Given the description of an element on the screen output the (x, y) to click on. 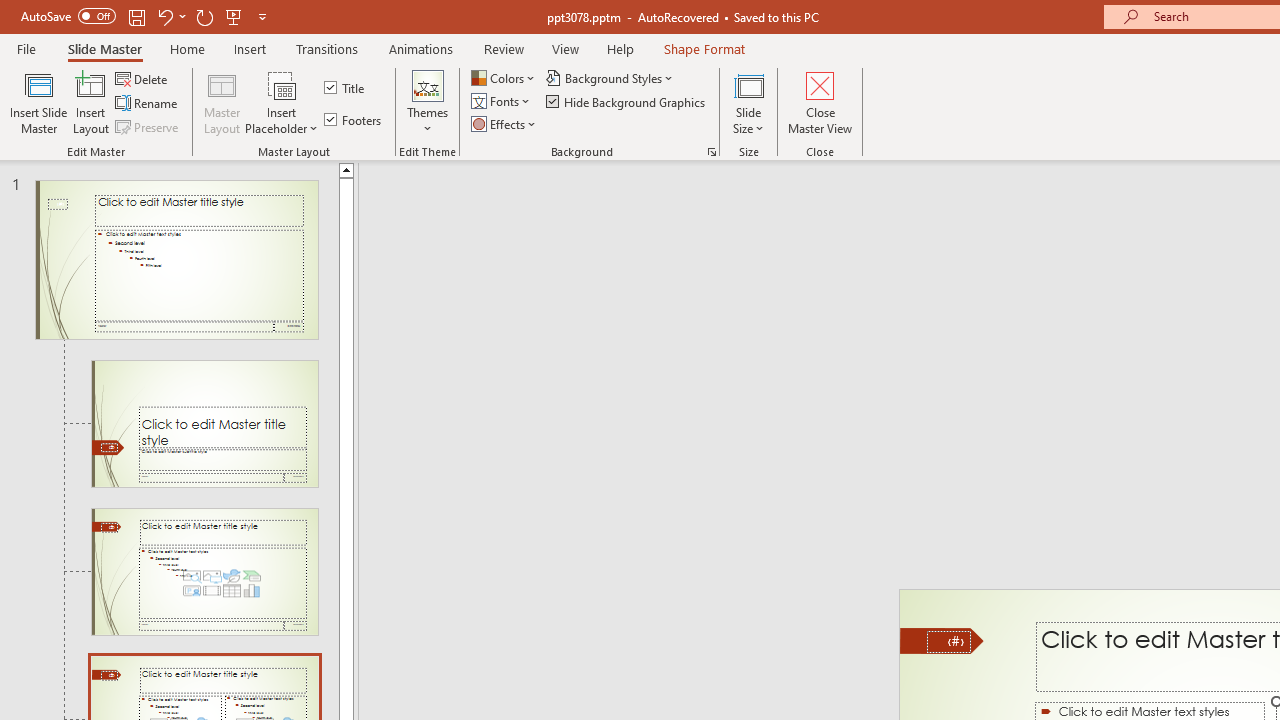
Hide Background Graphics (626, 101)
Slide Wisp Slide Master: used by slide(s) 1 (176, 259)
Effects (505, 124)
Slide Size (749, 102)
Themes (427, 102)
Content (282, 84)
